Given the description of an element on the screen output the (x, y) to click on. 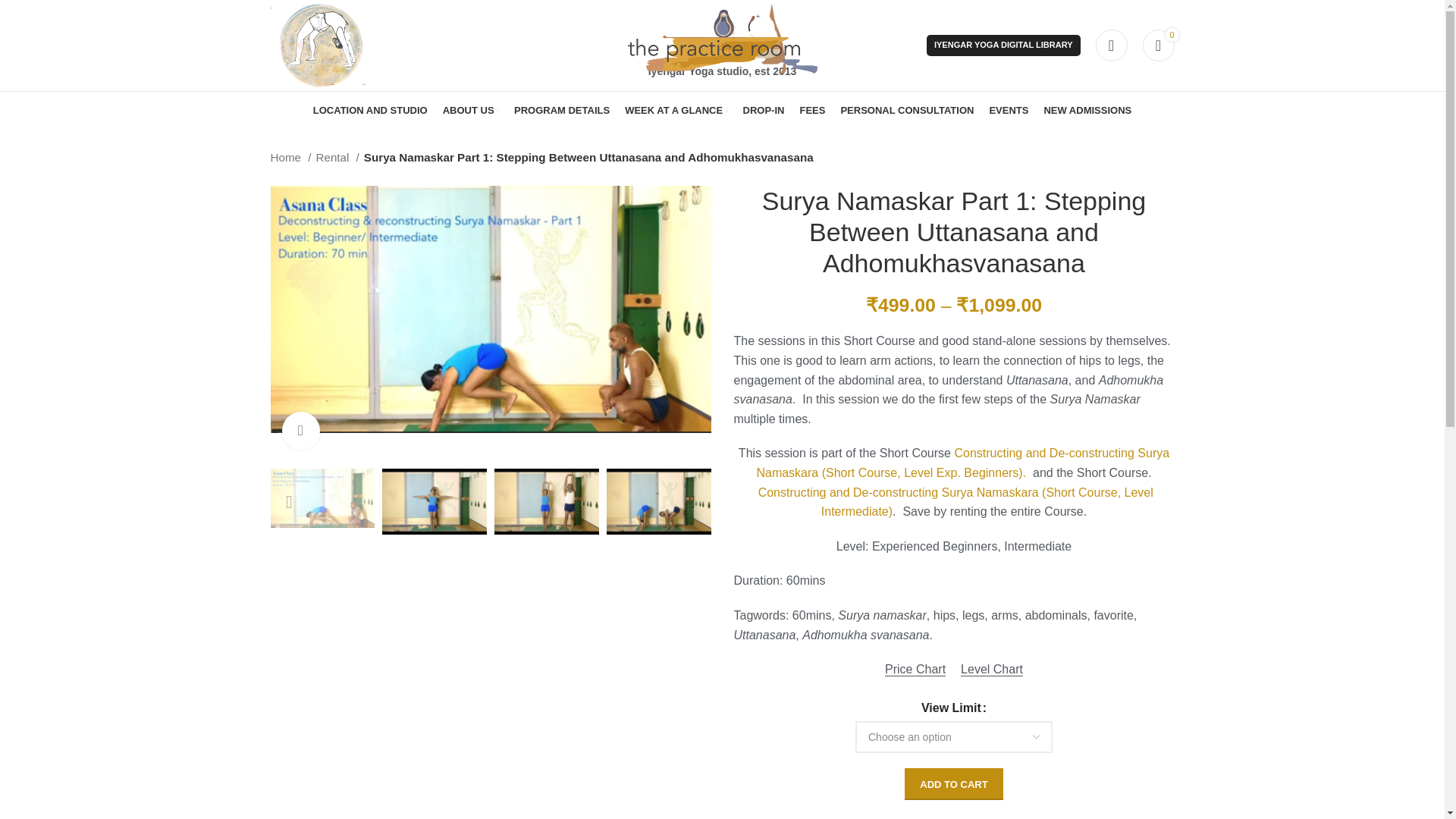
DROP-IN (763, 110)
Screenshot 2021-01-10 at 2.06.31 PM (489, 308)
IYENGAR YOGA DIGITAL LIBRARY (1003, 45)
Screenshot 2021-12-29 at 10.11.03 AM (938, 323)
WEEK AT A GLANCE (675, 110)
My account (1110, 45)
EVENTS (1007, 110)
FEES (812, 110)
0 (1157, 45)
Shopping cart (1157, 45)
NEW ADMISSIONS (1087, 110)
Rental (336, 157)
PERSONAL CONSULTATION (907, 110)
PROGRAM DETAILS (561, 110)
